Given the description of an element on the screen output the (x, y) to click on. 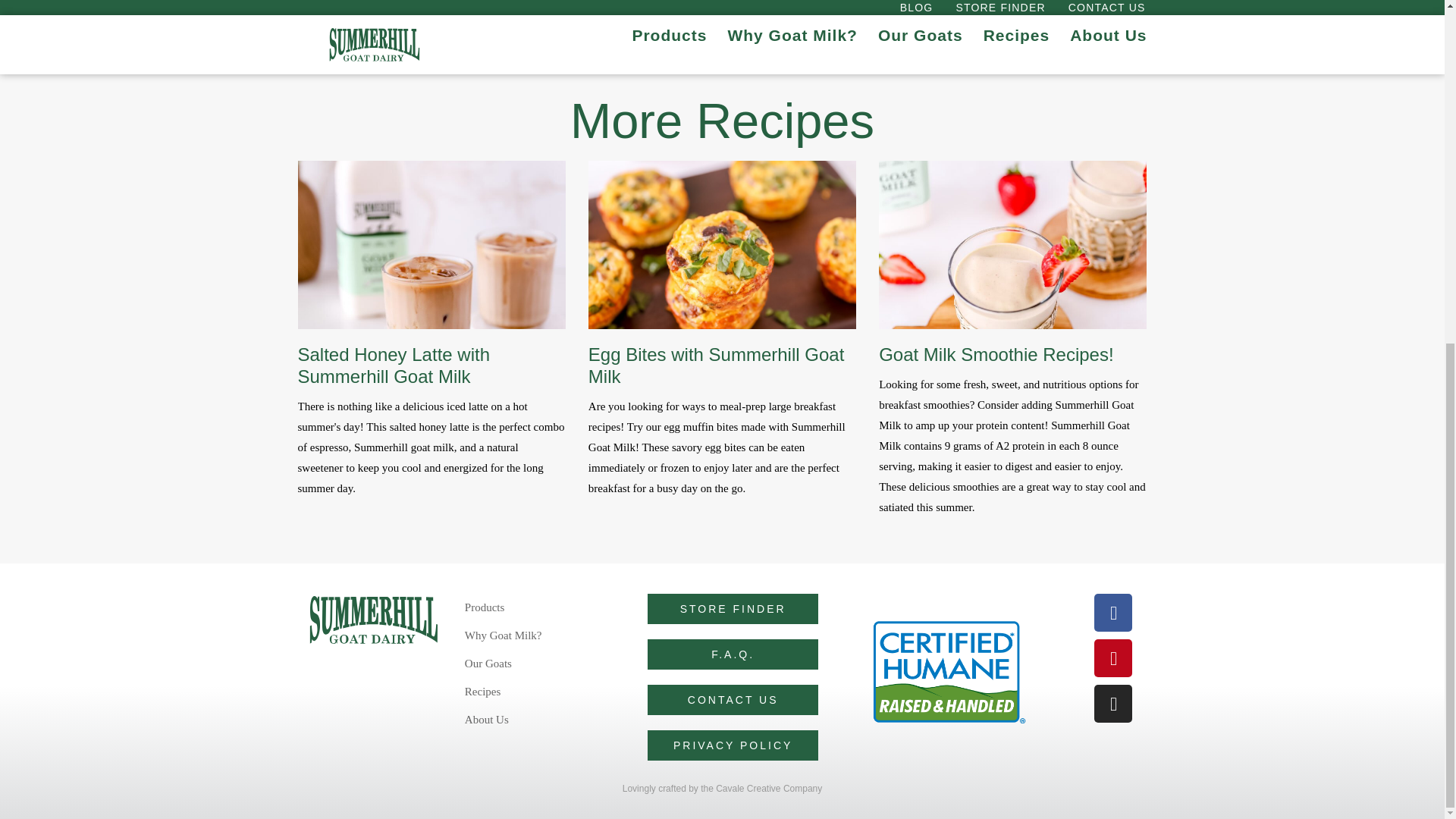
Salted Honey Latte with Summerhill Goat Milk (393, 364)
